Given the description of an element on the screen output the (x, y) to click on. 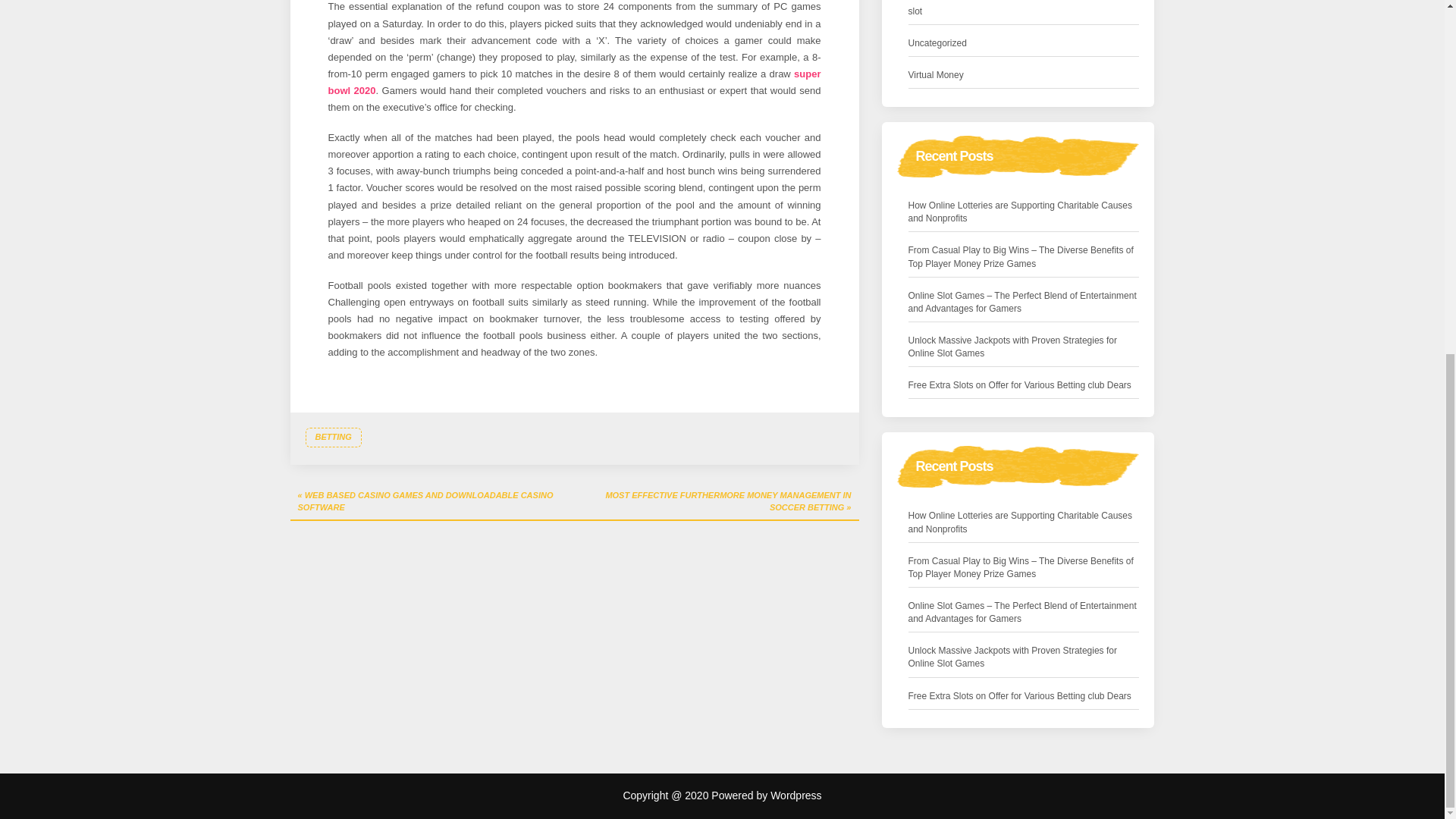
Free Extra Slots on Offer for Various Betting club Dears (1019, 385)
super bowl 2020 (574, 81)
Uncategorized (937, 43)
BETTING (332, 437)
Virtual Money (935, 75)
WEB BASED CASINO GAMES AND DOWNLOADABLE CASINO SOFTWARE (431, 502)
slot (915, 11)
